Given the description of an element on the screen output the (x, y) to click on. 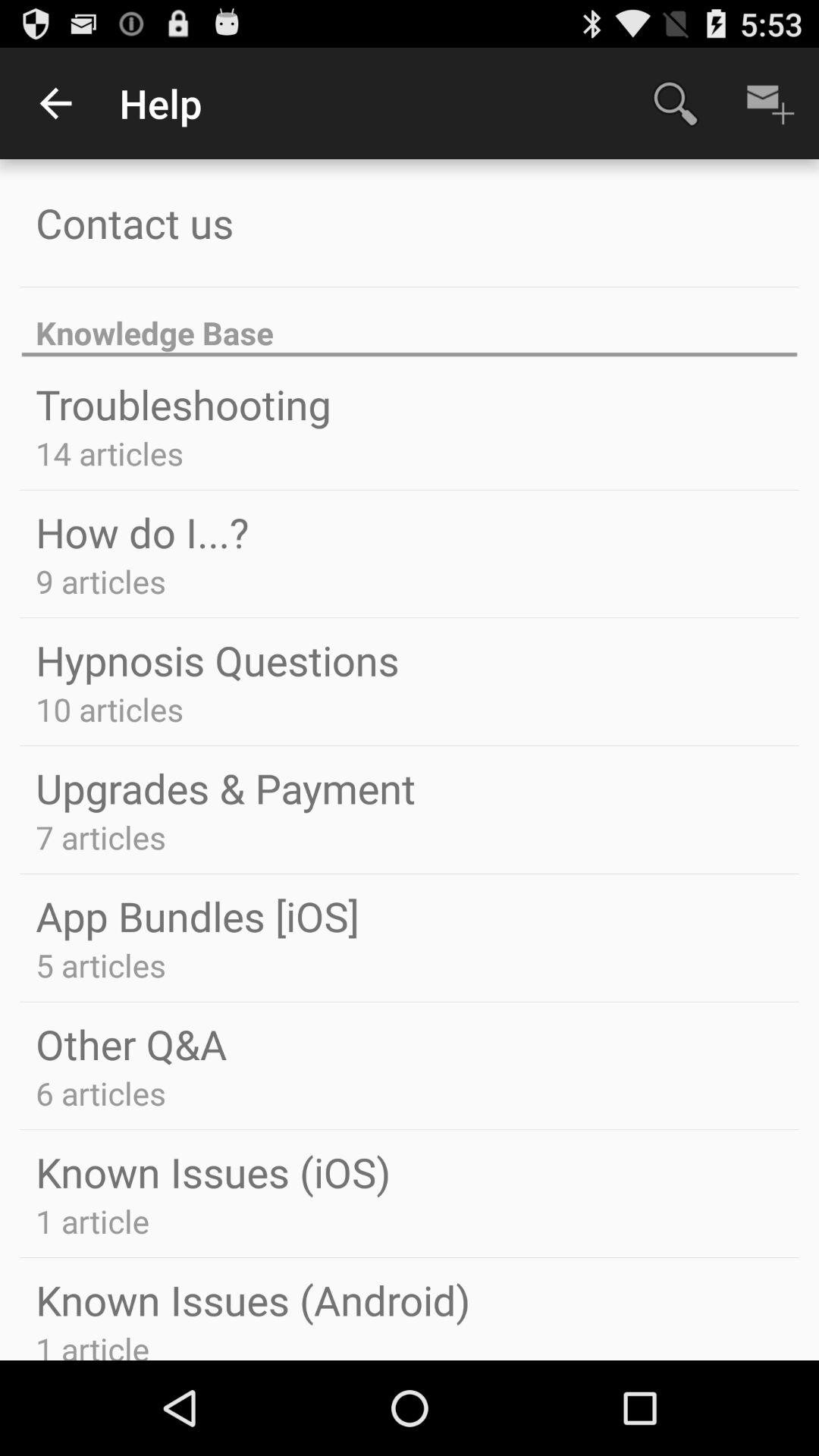
swipe to the troubleshooting (183, 403)
